Given the description of an element on the screen output the (x, y) to click on. 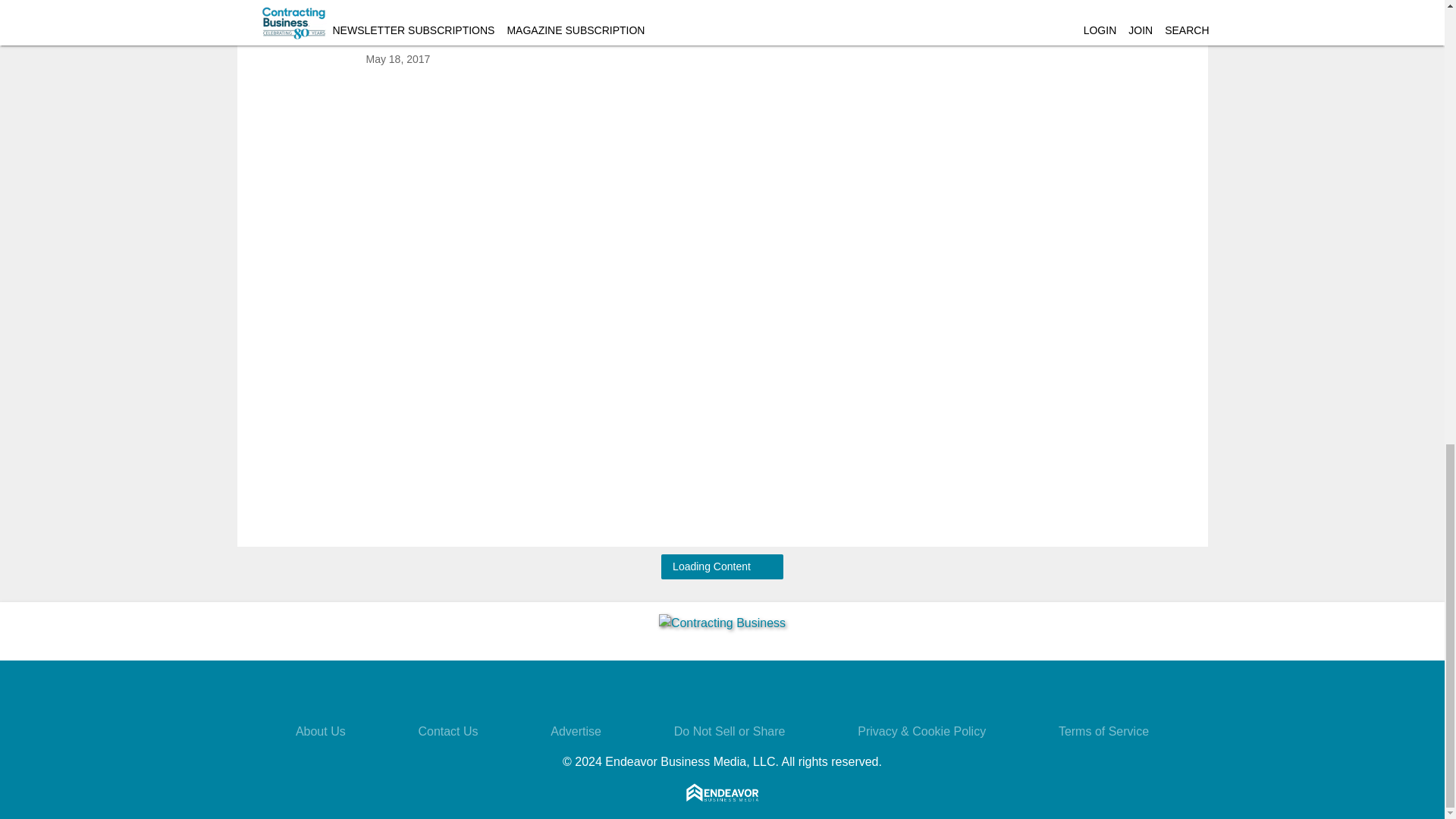
Refrigerant Gauges (307, 28)
